Given the description of an element on the screen output the (x, y) to click on. 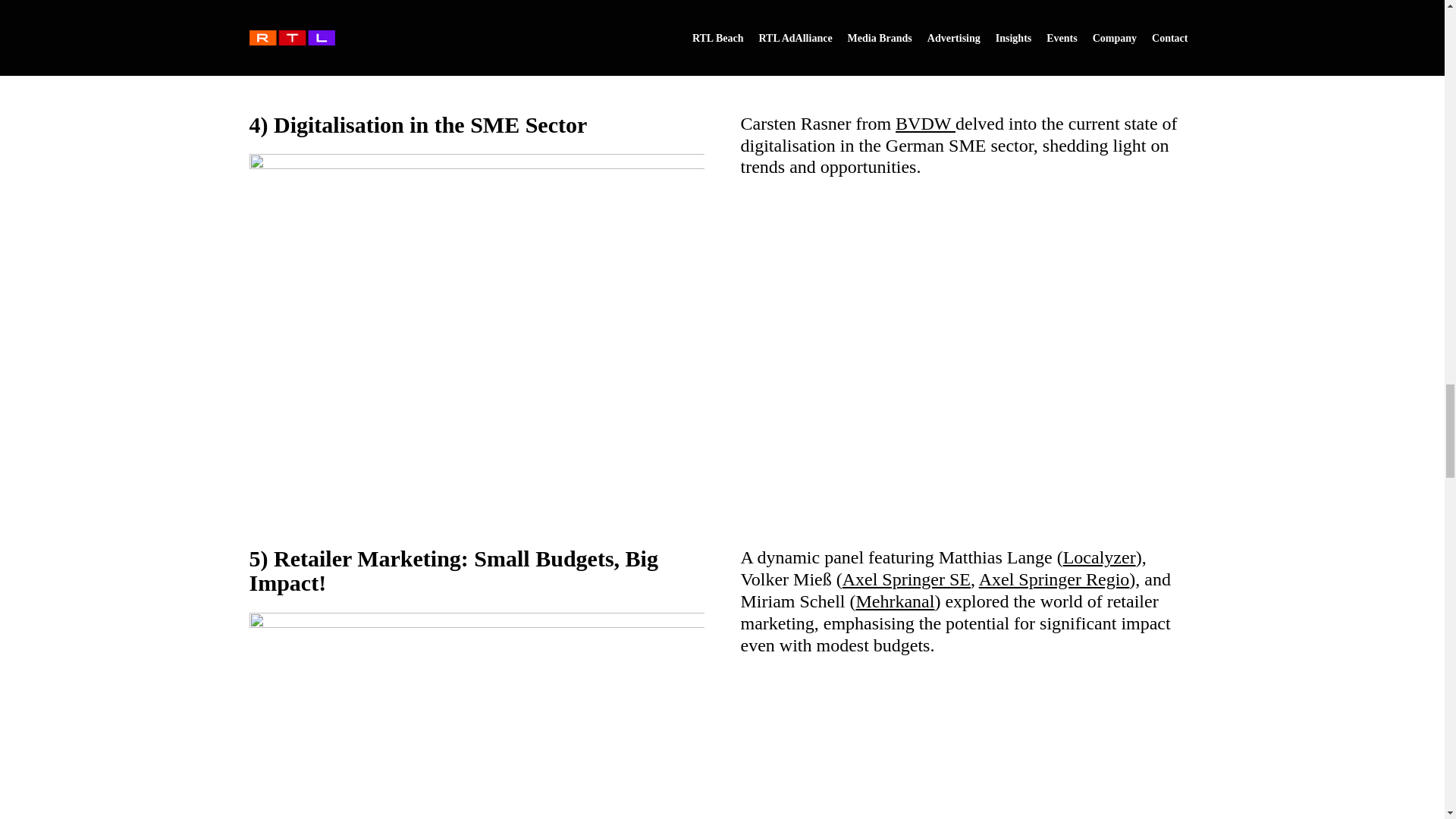
Localyzer (1098, 557)
Axel Springer Regio (1053, 578)
BVDW (925, 123)
Axel Springer SE (907, 578)
Mehrkanal (895, 600)
